Given the description of an element on the screen output the (x, y) to click on. 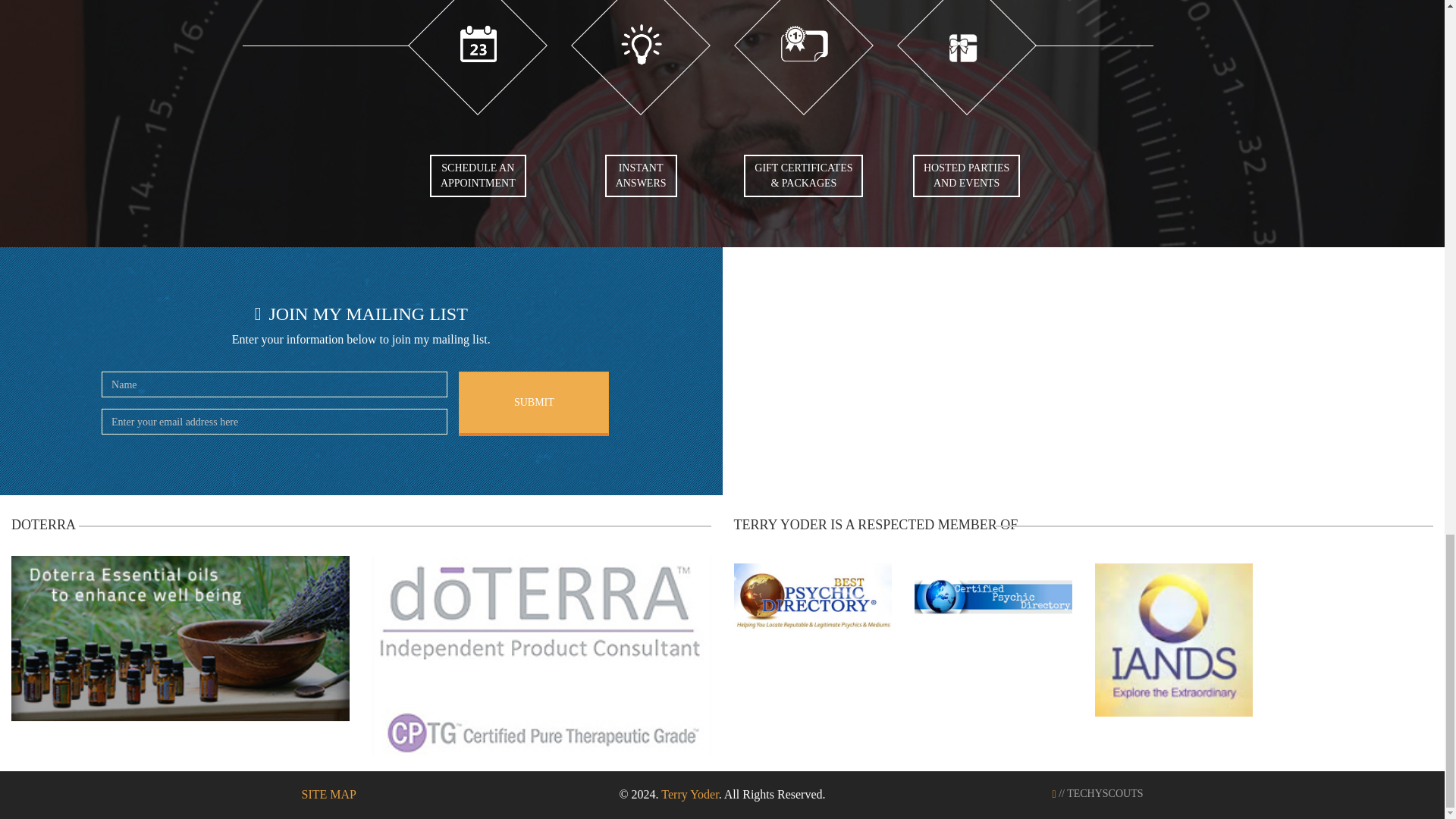
SUBMIT (477, 175)
Terry Yoder (533, 403)
SITE MAP (641, 175)
